Given the description of an element on the screen output the (x, y) to click on. 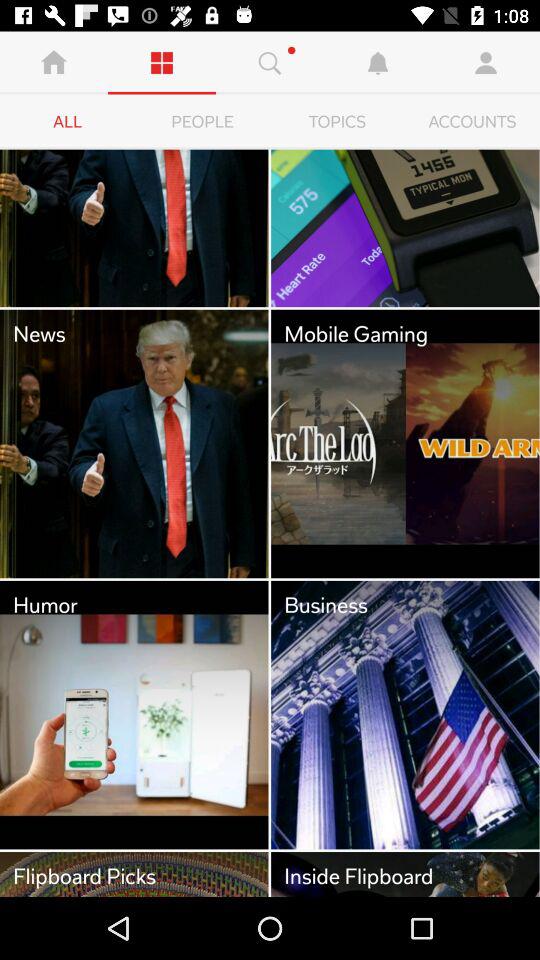
open the icon above the all (162, 62)
